Given the description of an element on the screen output the (x, y) to click on. 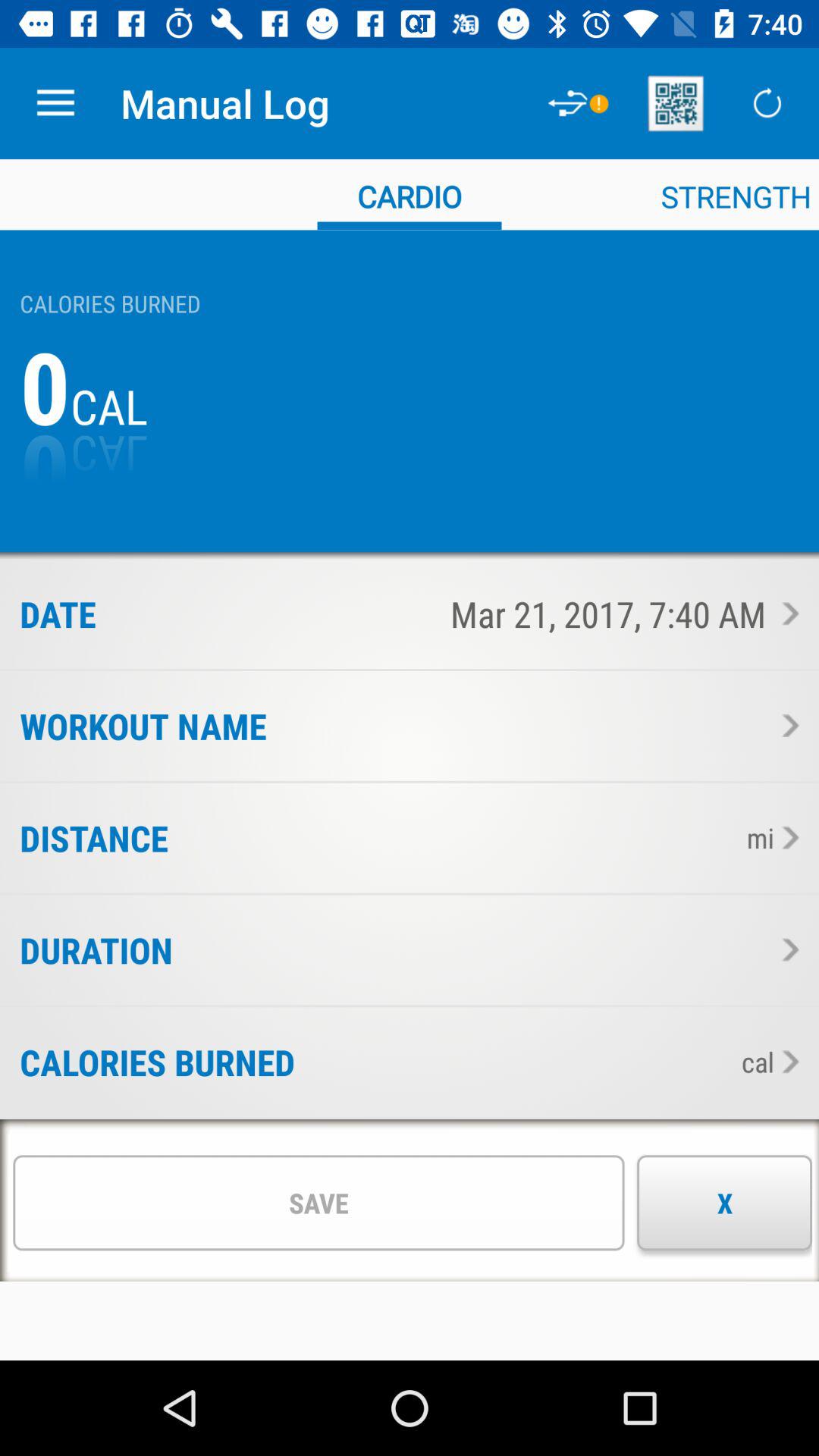
open the icon next to cal item (513, 1062)
